Given the description of an element on the screen output the (x, y) to click on. 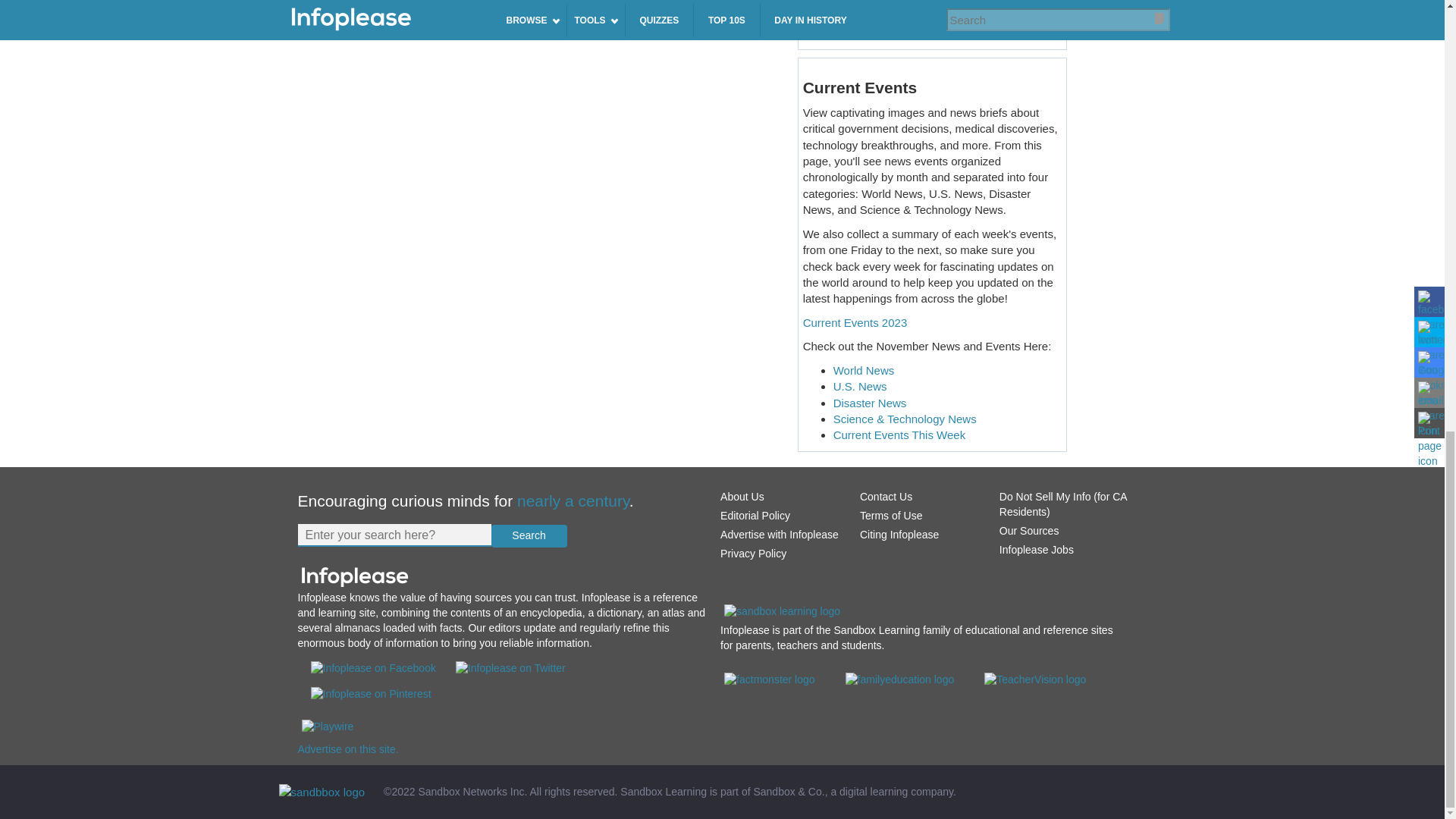
Search (529, 535)
